Given the description of an element on the screen output the (x, y) to click on. 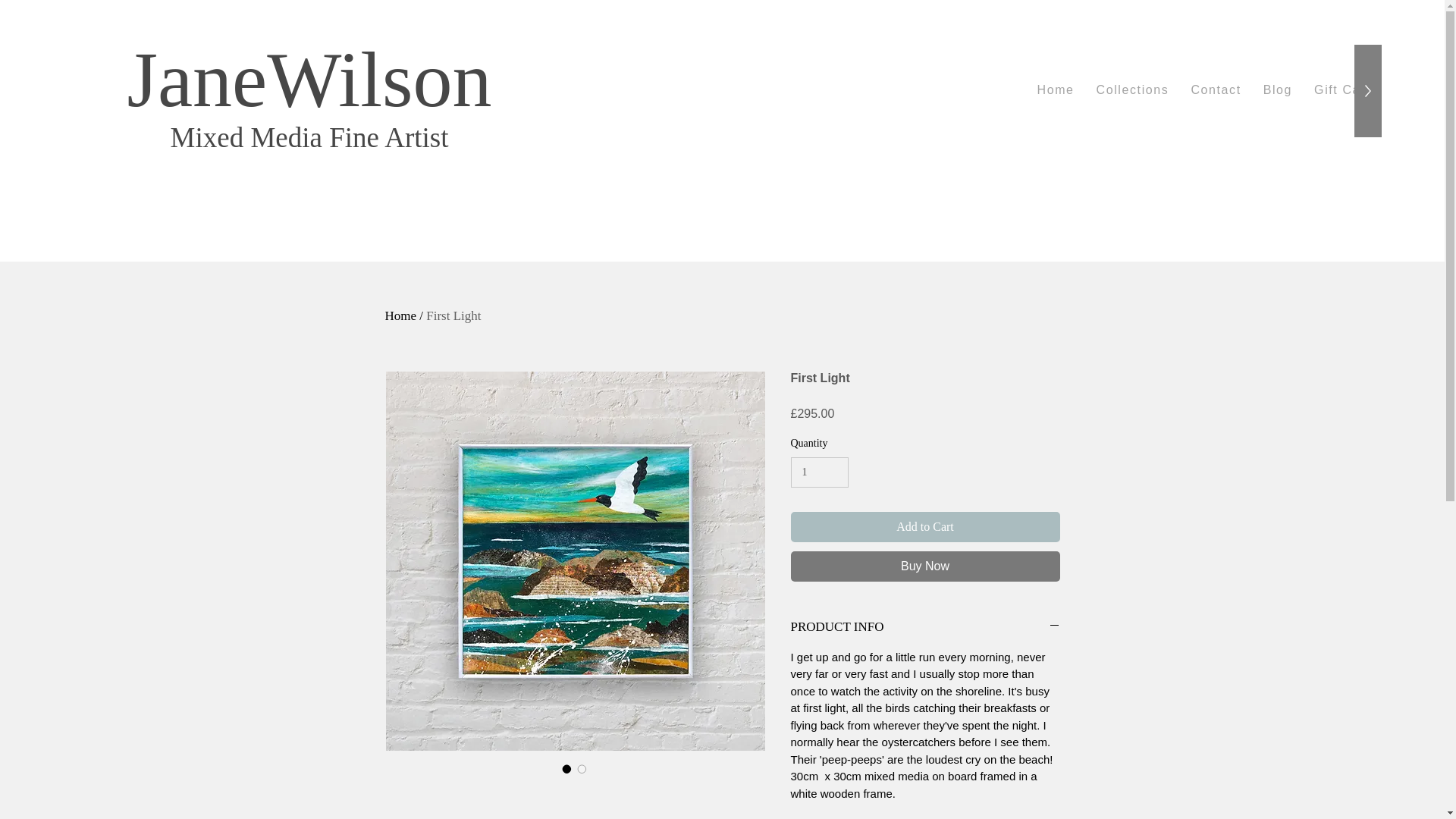
Add to Cart (924, 526)
PRODUCT INFO (924, 627)
Media (289, 137)
Jane (196, 79)
Home (400, 315)
Buy Now (1205, 91)
Mixed (924, 566)
Fine Artist (210, 137)
First Light (388, 137)
